Given the description of an element on the screen output the (x, y) to click on. 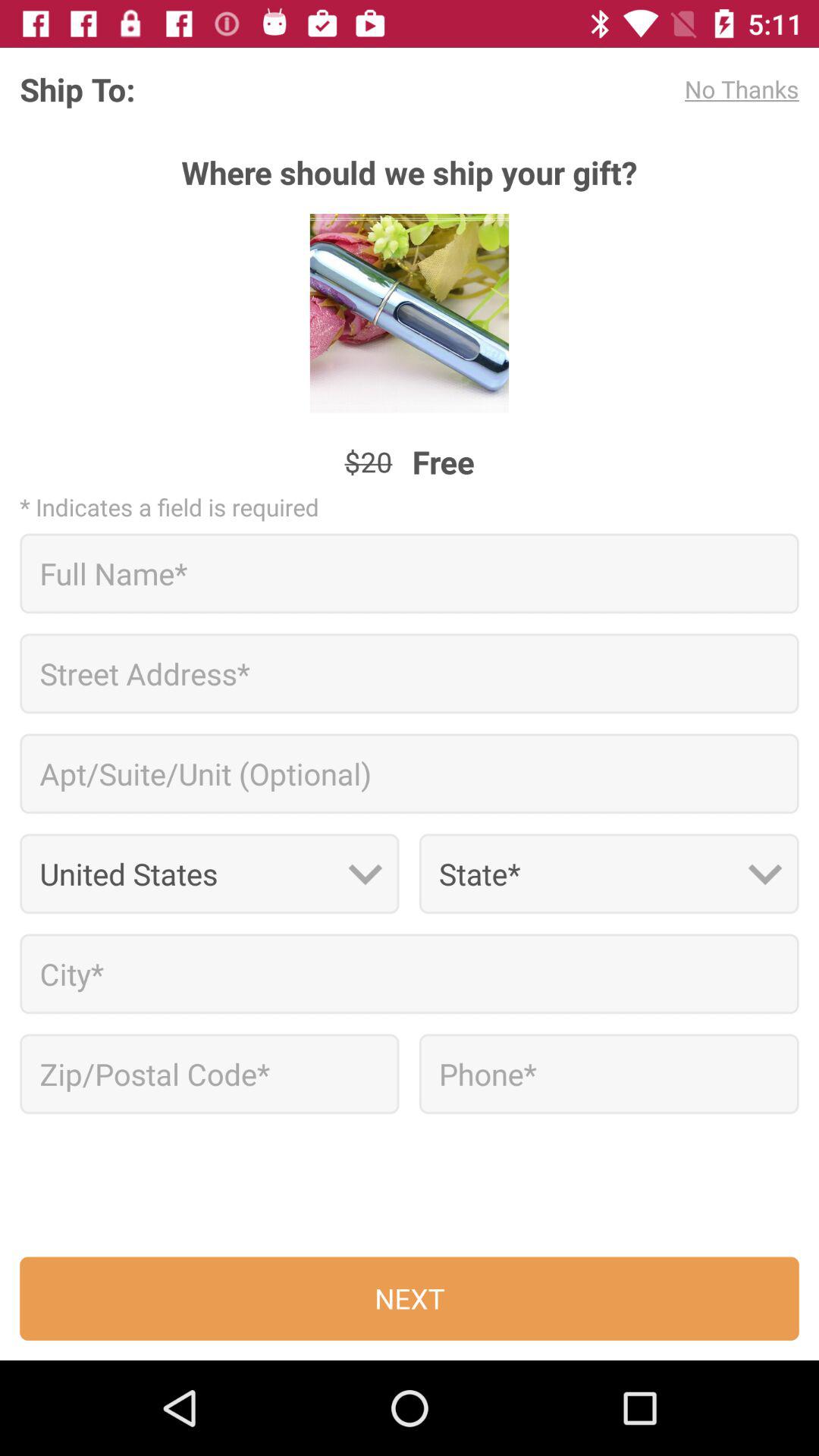
enter name (409, 573)
